Given the description of an element on the screen output the (x, y) to click on. 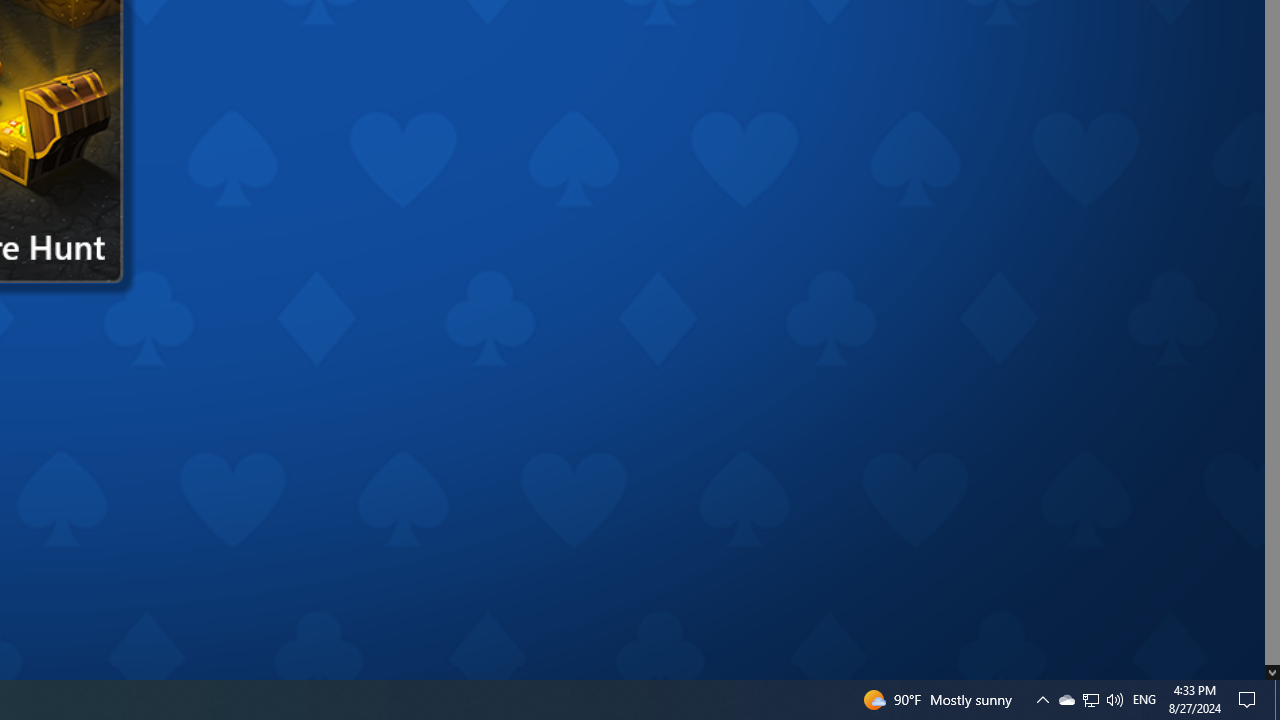
AutomationID: down_arrow_0 (1272, 672)
